Given the description of an element on the screen output the (x, y) to click on. 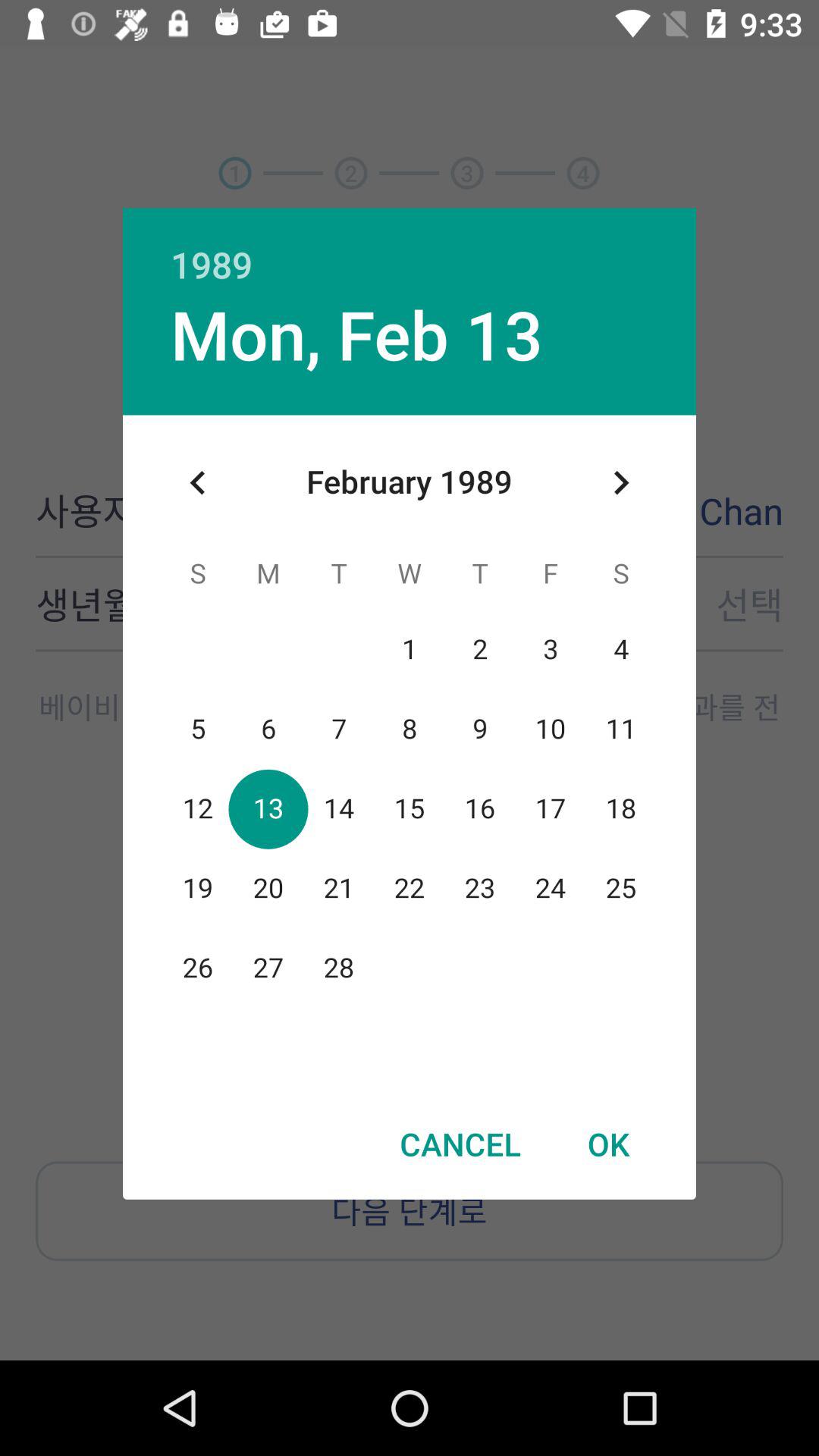
click item at the bottom (459, 1143)
